Given the description of an element on the screen output the (x, y) to click on. 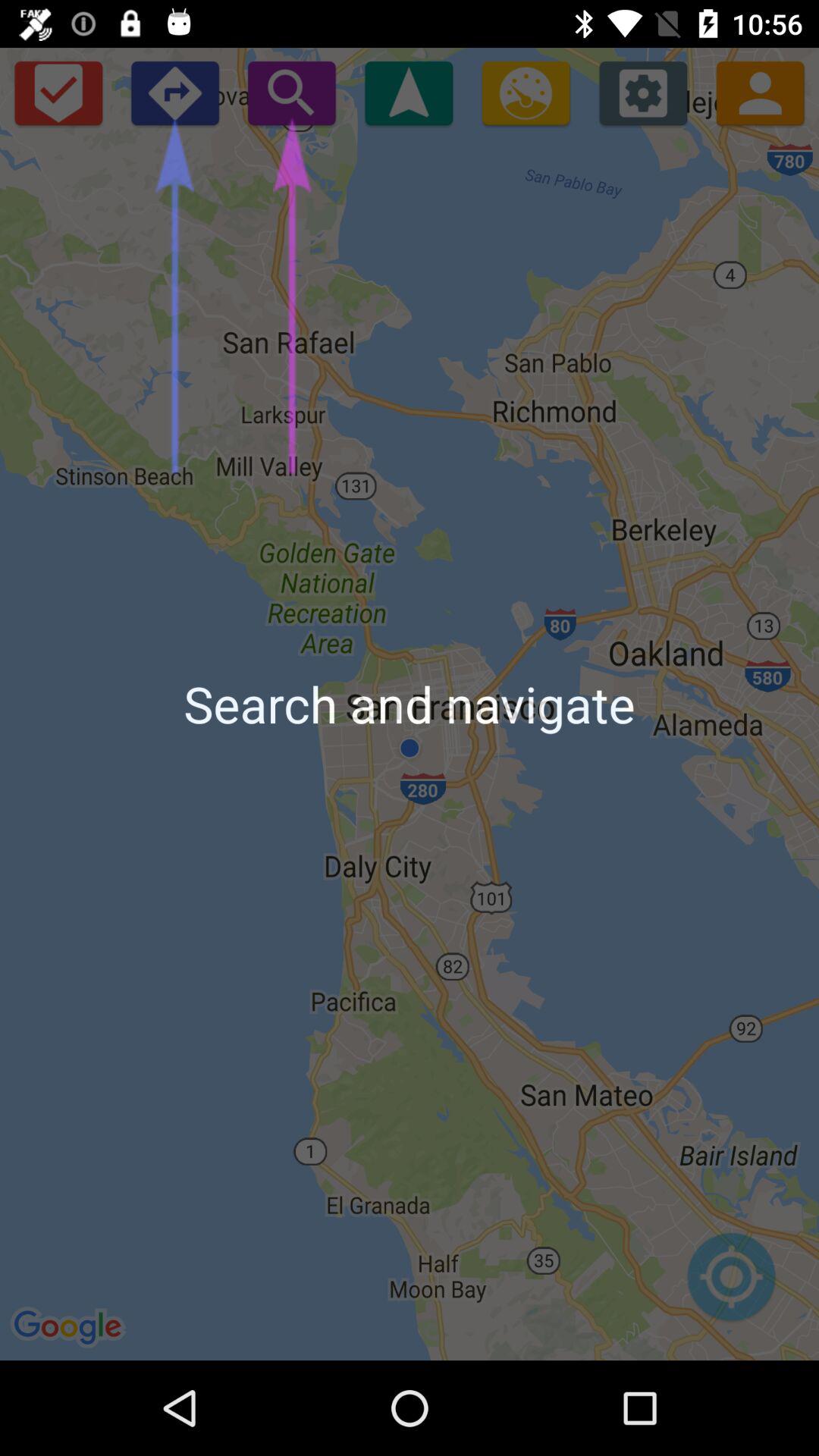
person (760, 92)
